Given the description of an element on the screen output the (x, y) to click on. 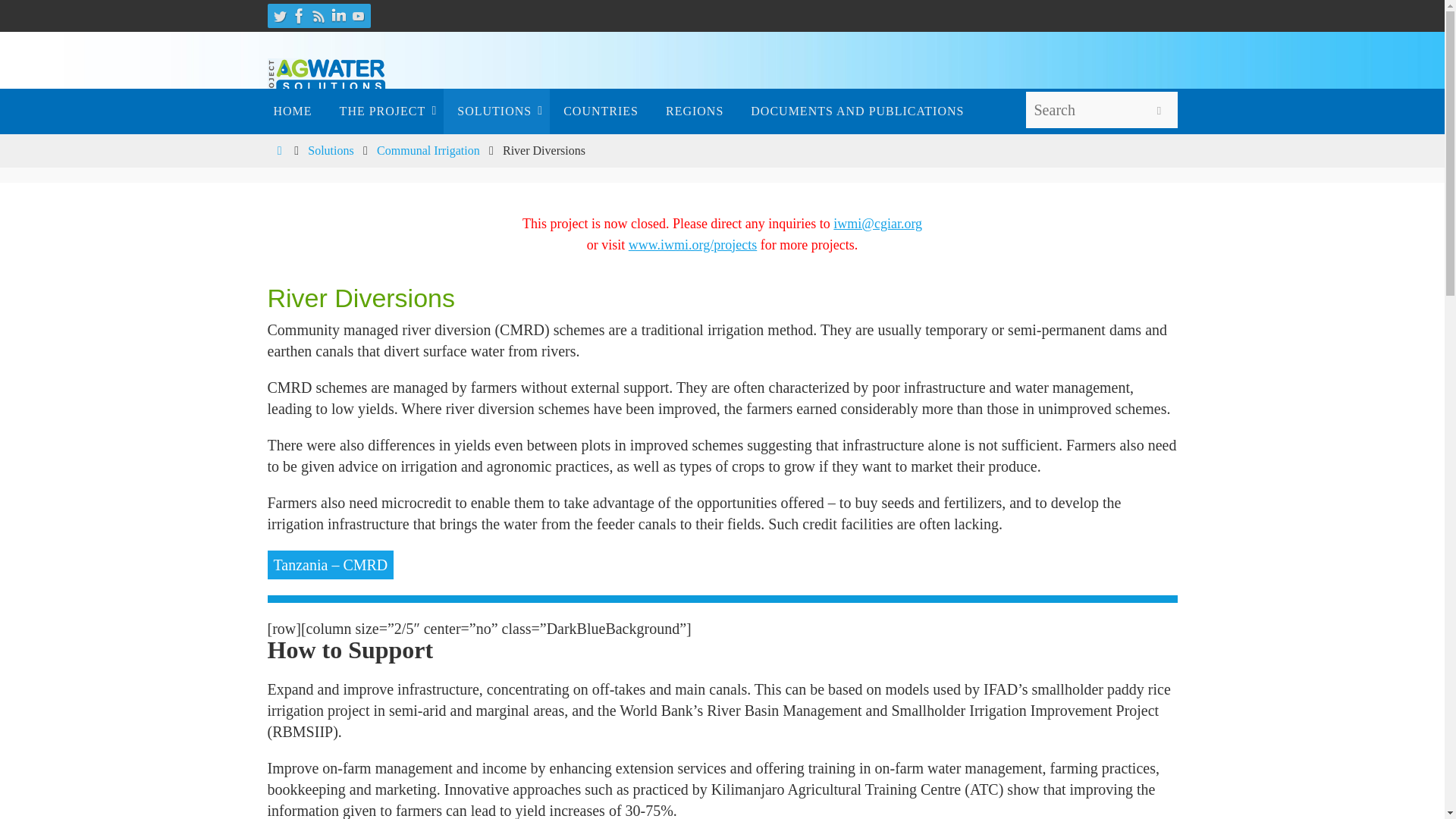
Follow us on Twitter (278, 15)
Watch us on YouTube (357, 15)
Solutions (330, 150)
DOCUMENTS AND PUBLICATIONS (856, 111)
THE PROJECT (385, 111)
Communal Irrigation (428, 150)
REGIONS (694, 111)
Project : Agricultural Water Management Solutions (325, 79)
COUNTRIES (601, 111)
HOME (291, 111)
SOLUTIONS (497, 111)
Join us on LinkedIn (338, 15)
Get our latest news (317, 15)
Search (1158, 110)
Home (279, 150)
